Given the description of an element on the screen output the (x, y) to click on. 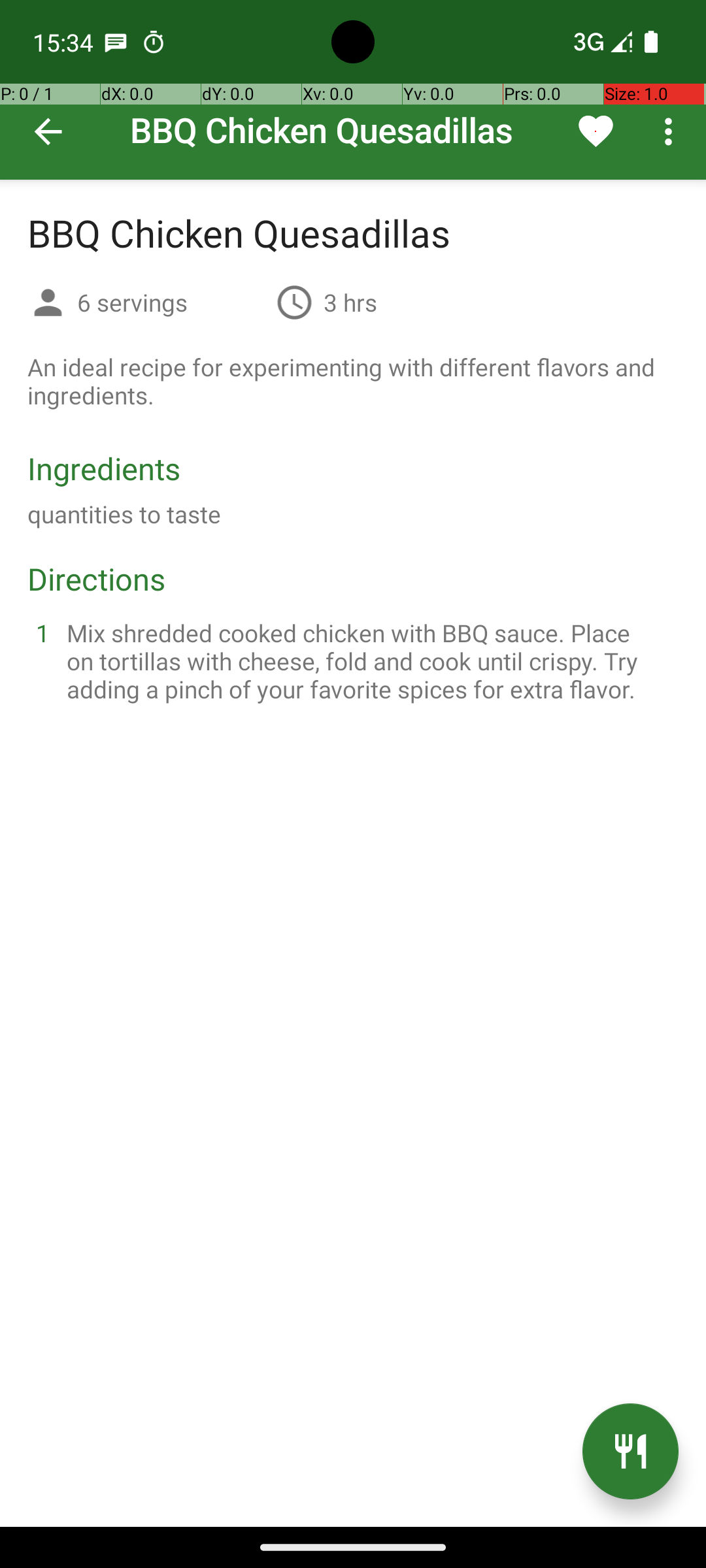
Mix shredded cooked chicken with BBQ sauce. Place on tortillas with cheese, fold and cook until crispy. Try adding a pinch of your favorite spices for extra flavor. Element type: android.widget.TextView (368, 660)
